Given the description of an element on the screen output the (x, y) to click on. 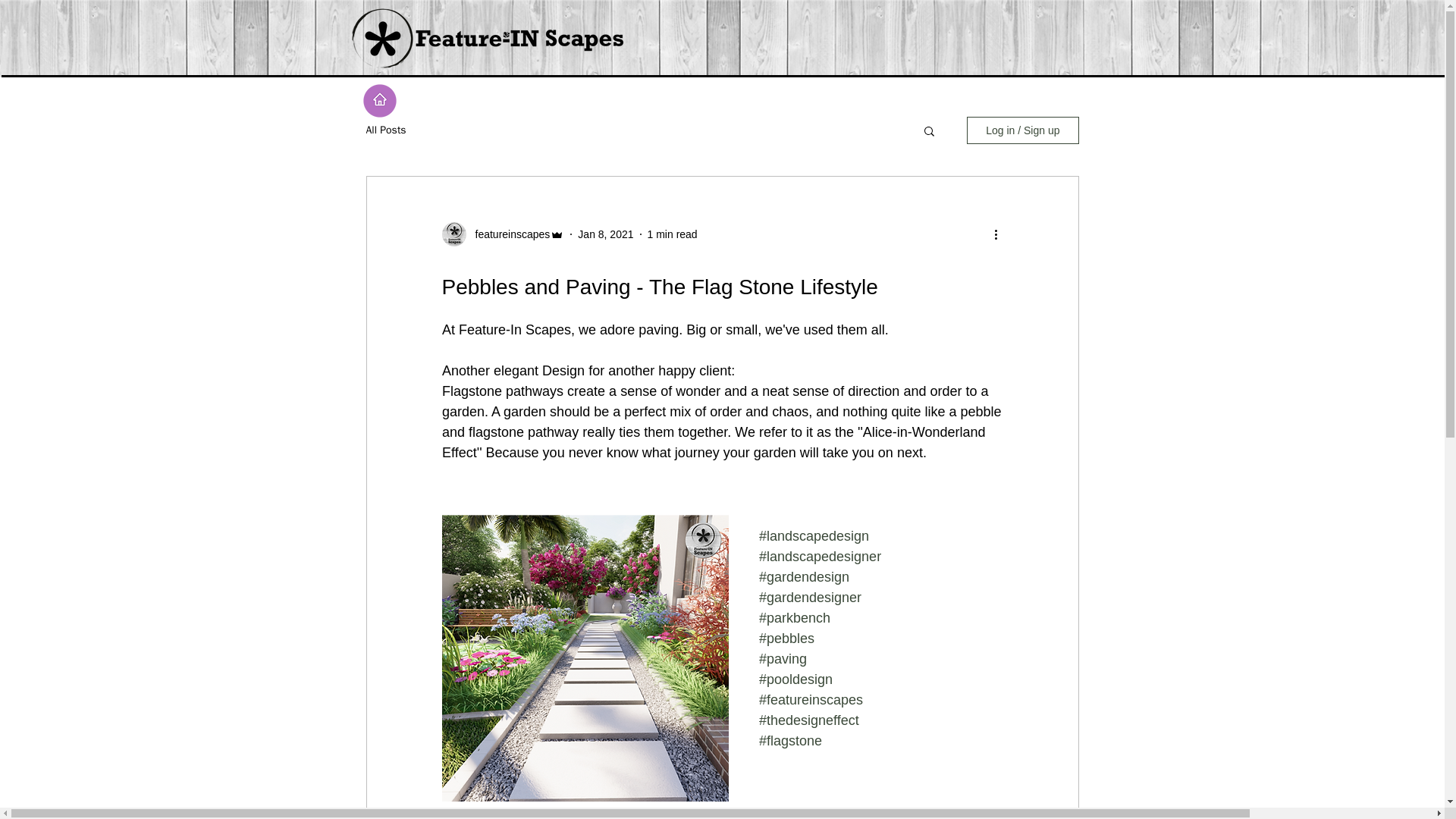
Jan 8, 2021 (605, 233)
featureinscapes (507, 233)
1 min read (672, 233)
All Posts (385, 130)
